Given the description of an element on the screen output the (x, y) to click on. 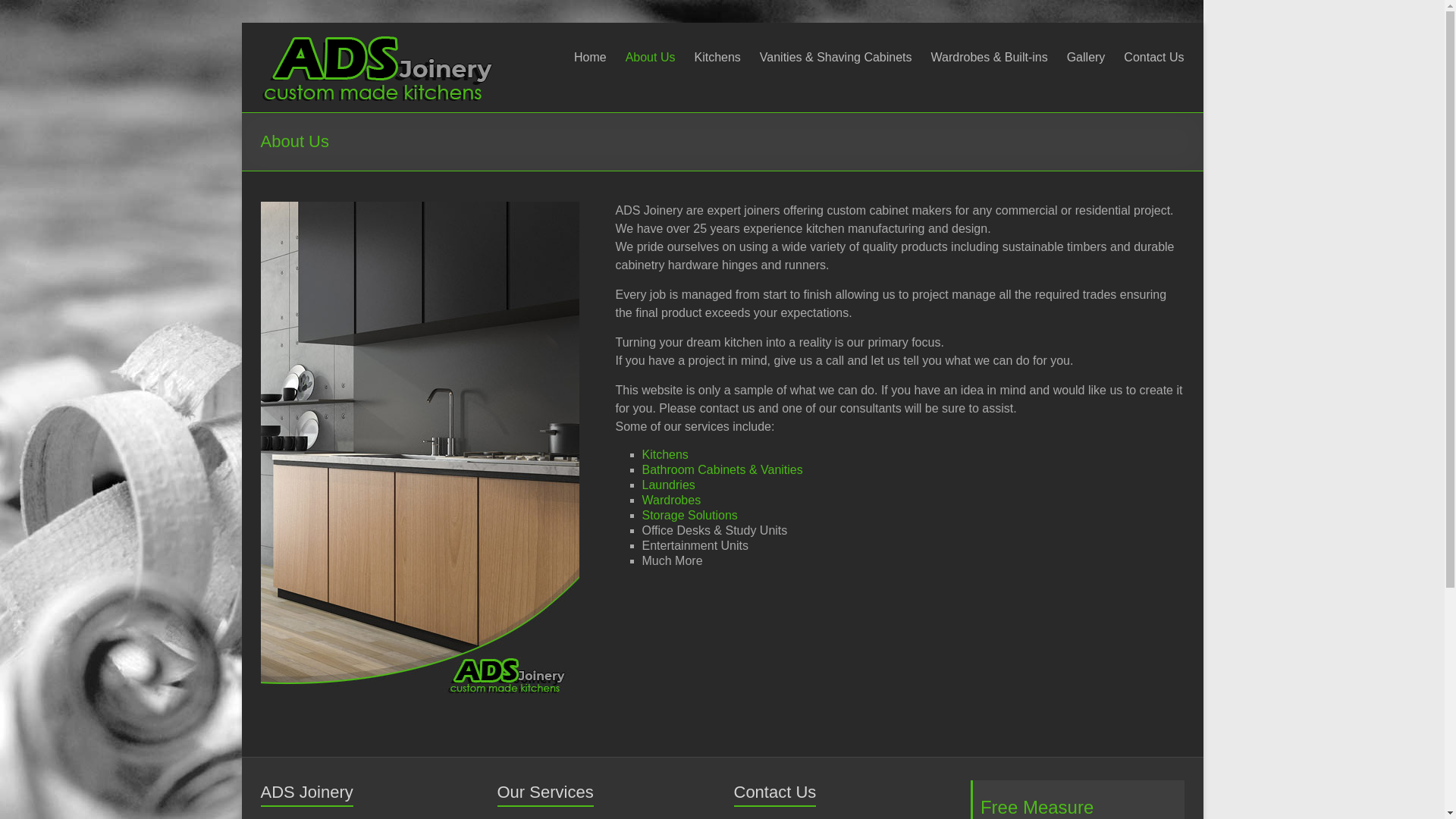
Wardrobes Element type: text (670, 499)
Wardrobes & Built-ins Element type: text (989, 54)
Storage Solutions Element type: text (689, 514)
Gallery Element type: text (1085, 54)
Home Element type: text (590, 54)
Custom Made Kitchens Element type: hover (377, 40)
Bathroom Cabinets & Vanities Element type: text (721, 469)
Kitchens Element type: text (664, 454)
About Us Element type: text (650, 54)
Vanities & Shaving Cabinets Element type: text (835, 54)
Laundries Element type: text (667, 484)
Kitchens Element type: text (716, 54)
Contact Us Element type: text (1153, 54)
